Given the description of an element on the screen output the (x, y) to click on. 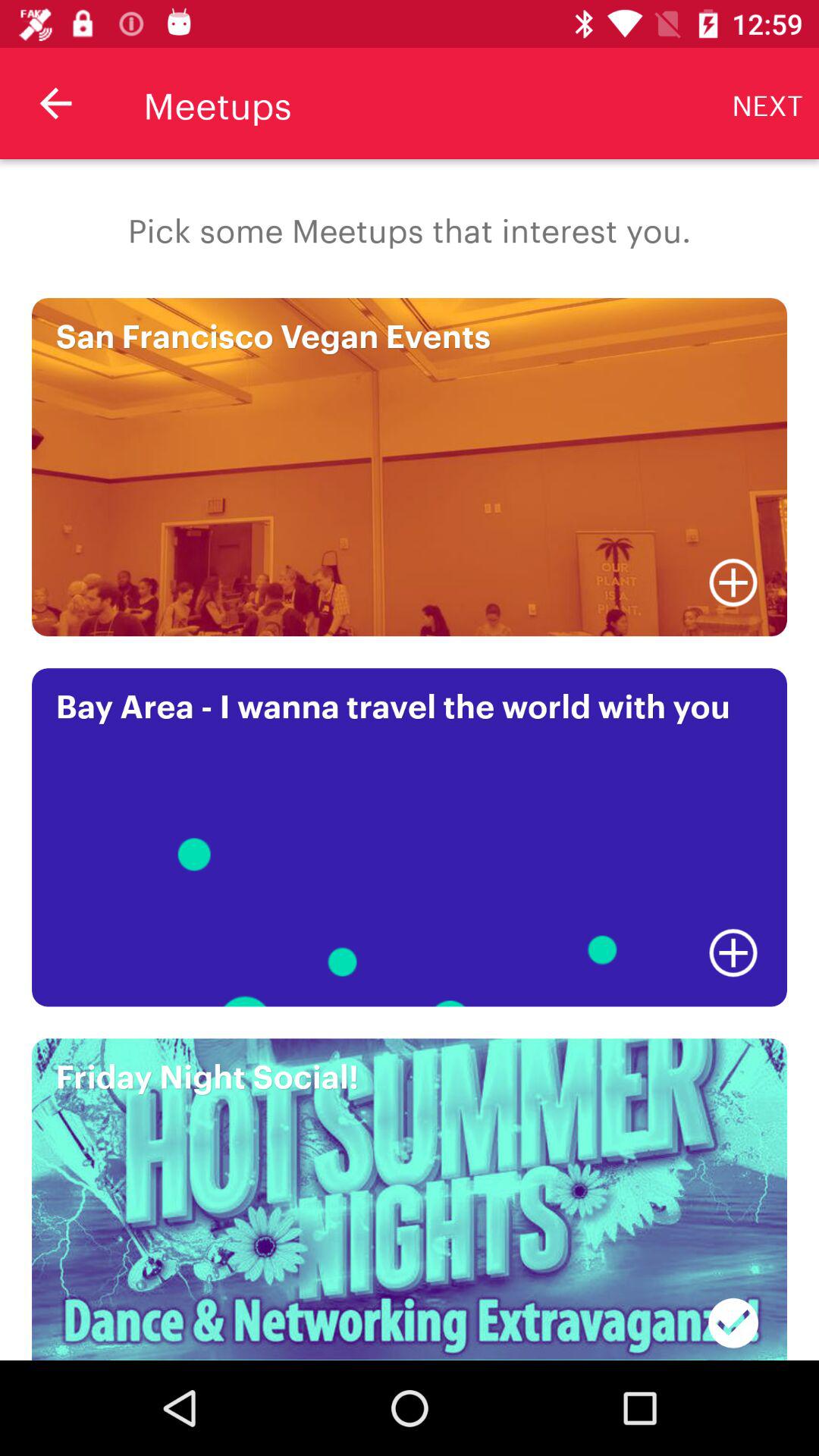
click item next to meetups icon (55, 103)
